Given the description of an element on the screen output the (x, y) to click on. 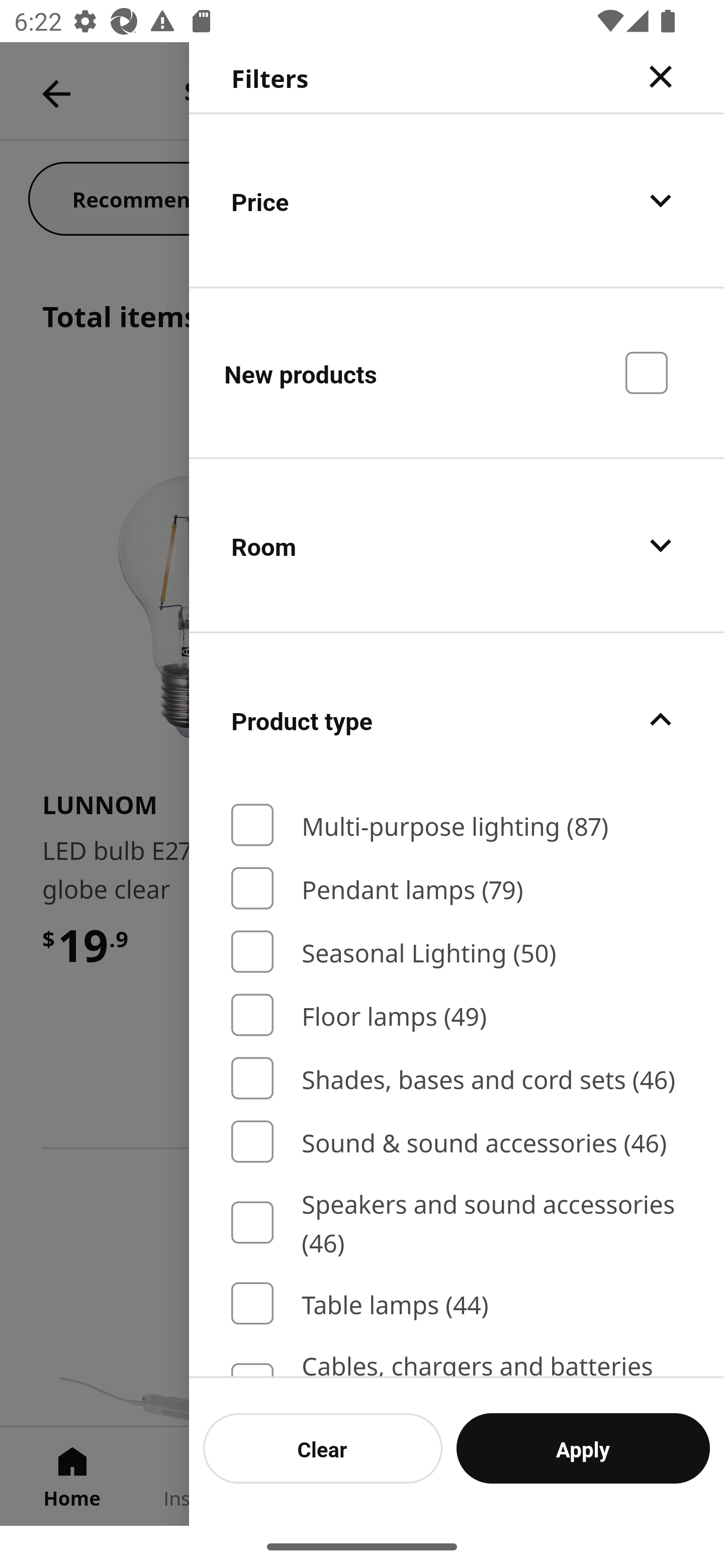
Price (456, 200)
New products (456, 371)
Room (456, 545)
Product type (456, 719)
Multi-purpose lighting (87) (456, 825)
Pendant lamps (79) (456, 888)
Seasonal Lighting (50) (456, 952)
Floor lamps (49) (456, 1015)
Shades, bases and cord sets (46) (456, 1077)
Sound & sound accessories (46) (456, 1142)
Speakers and sound accessories (46) (456, 1221)
Table lamps (44) (456, 1303)
Cables, chargers and batteries (35) (456, 1360)
Clear (322, 1447)
Apply (583, 1447)
